Given the description of an element on the screen output the (x, y) to click on. 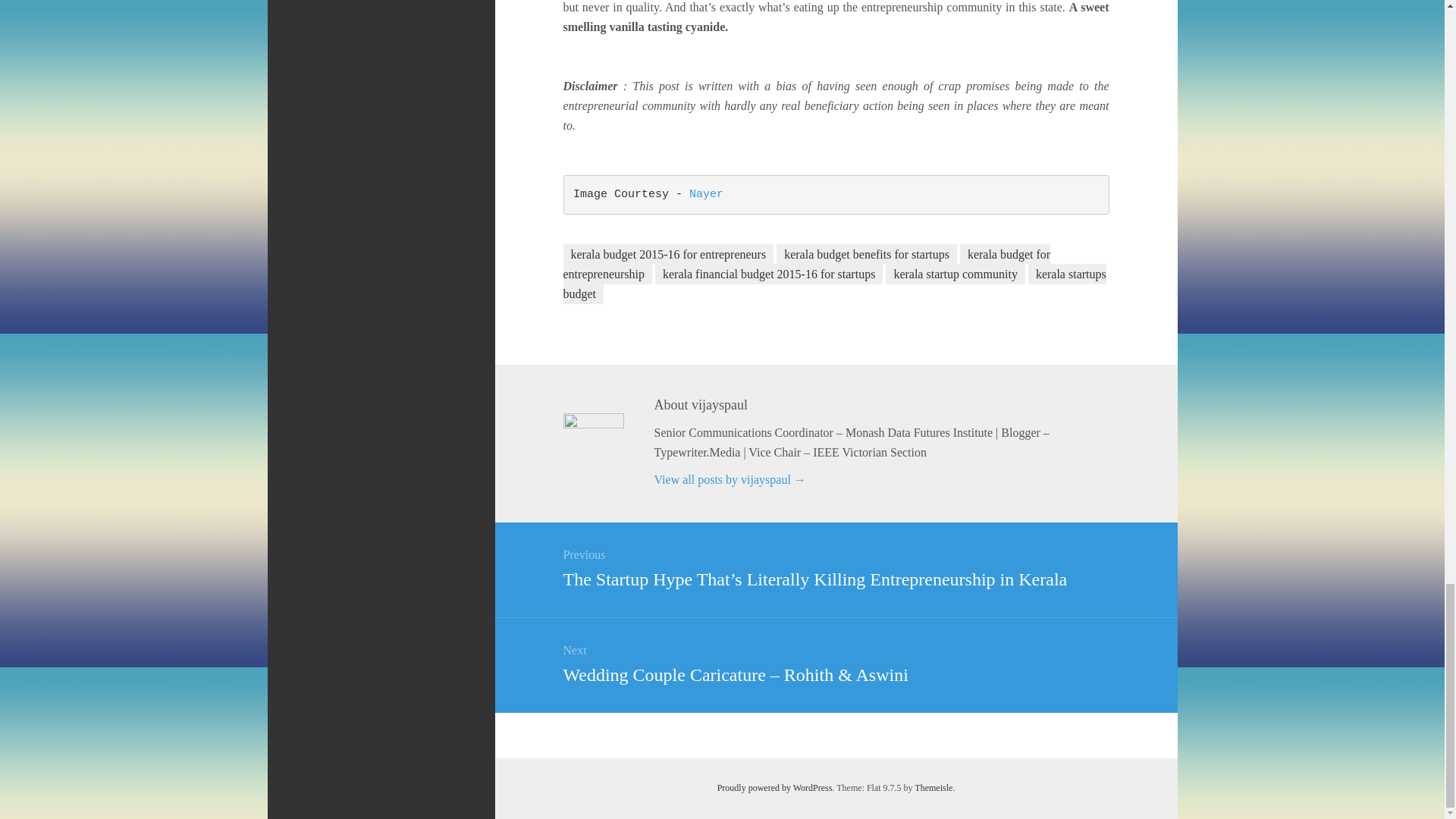
Flat WordPress Theme (933, 787)
kerala startup community (955, 273)
Themeisle (933, 787)
kerala startups budget (833, 283)
Nayer (705, 194)
kerala financial budget 2015-16 for startups (768, 273)
Semantic Personal Publishing Platform (774, 787)
kerala budget benefits for startups (866, 254)
kerala budget 2015-16 for entrepreneurs (667, 254)
Proudly powered by WordPress (774, 787)
